Given the description of an element on the screen output the (x, y) to click on. 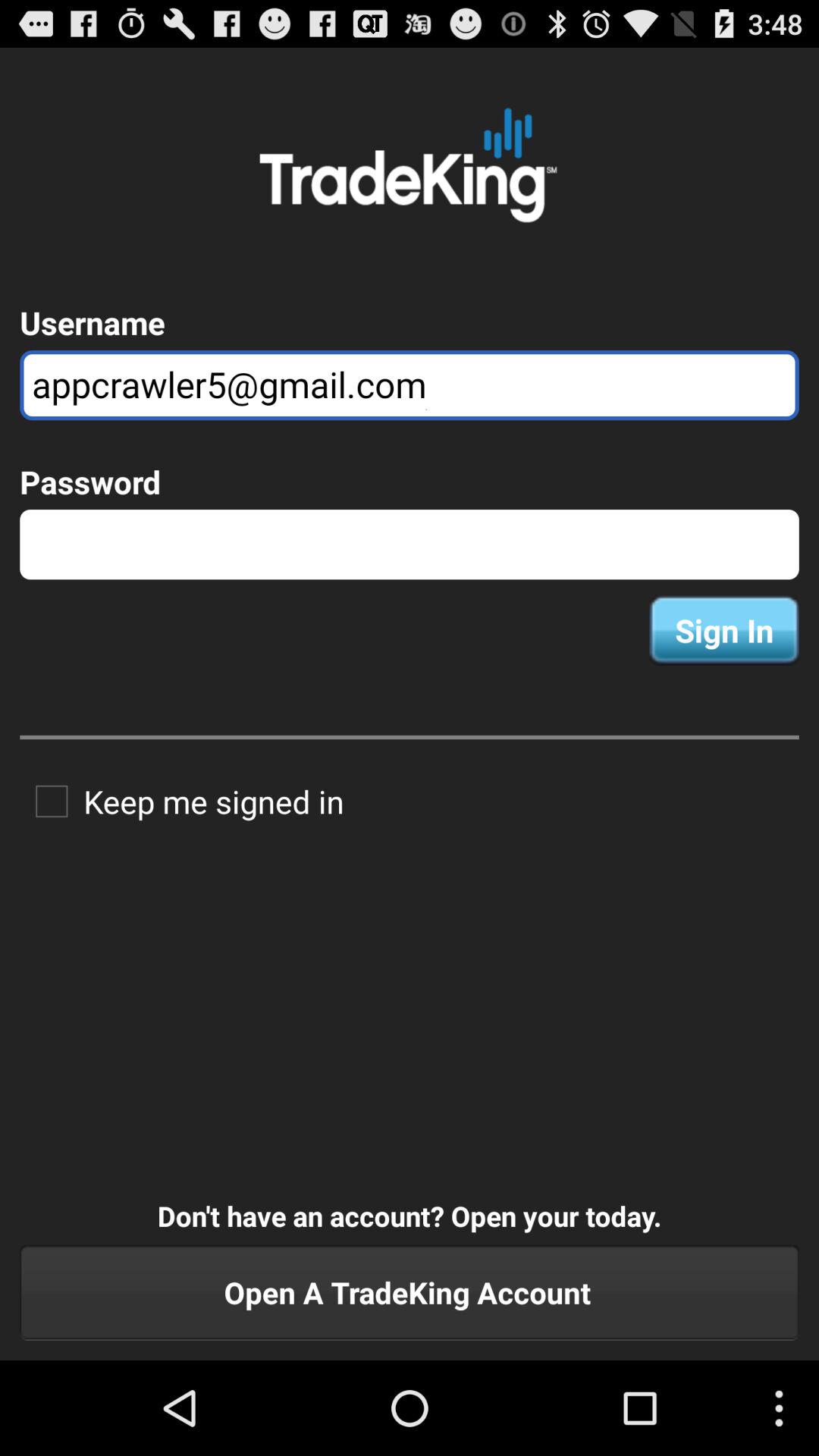
press app above the don t have item (181, 801)
